Given the description of an element on the screen output the (x, y) to click on. 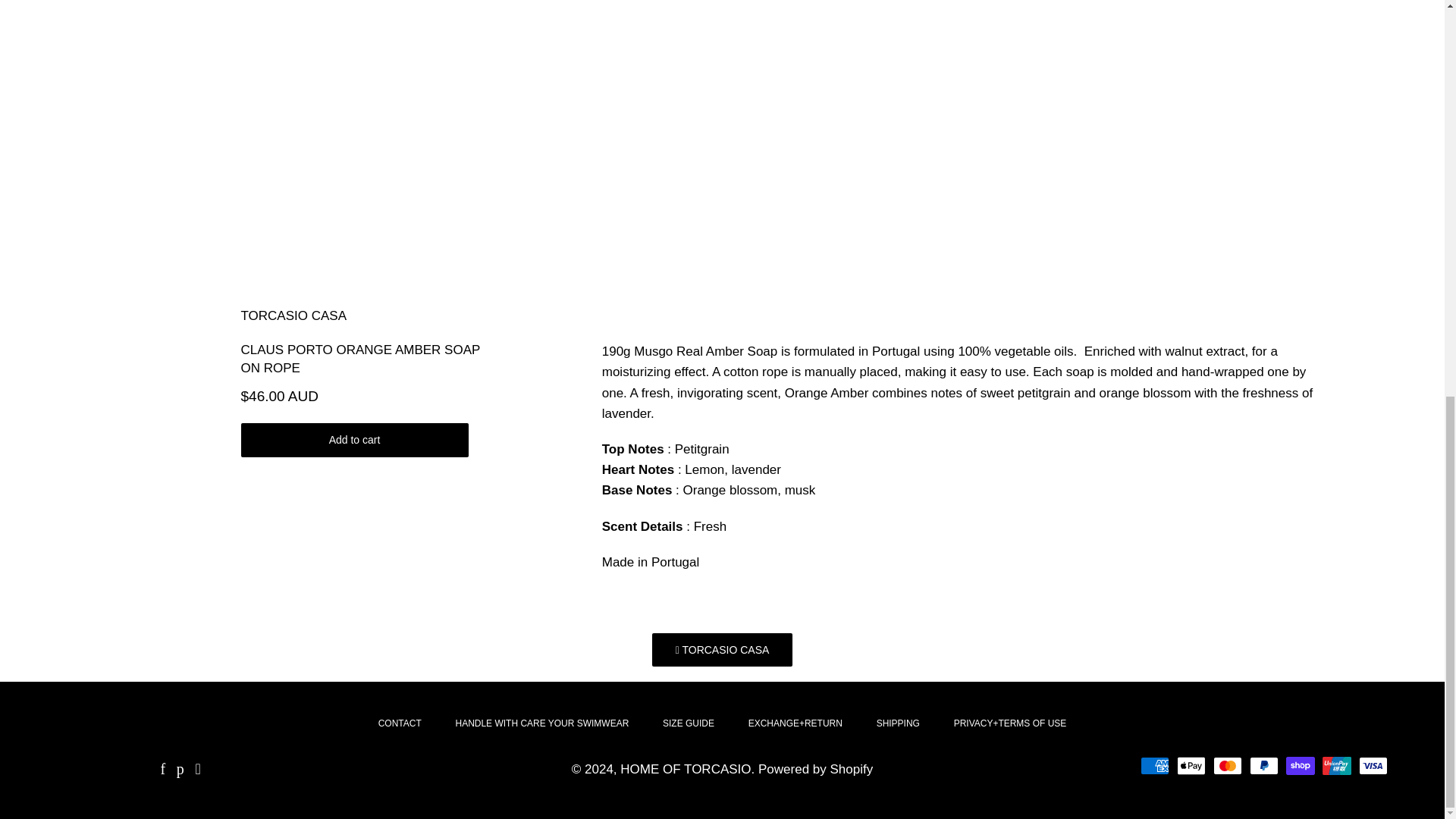
Visa (1372, 765)
PayPal (1263, 765)
HOME OF TORCASIO (685, 769)
Shop Pay (1299, 765)
SIZE GUIDE (688, 723)
CONTACT (399, 723)
Powered by Shopify (815, 769)
Union Pay (1336, 765)
American Express (1154, 765)
Add to cart (354, 439)
SHIPPING (897, 723)
Mastercard (1226, 765)
TORCASIO CASA (722, 649)
HANDLE WITH CARE YOUR SWIMWEAR (541, 723)
Apple Pay (1190, 765)
